Given the description of an element on the screen output the (x, y) to click on. 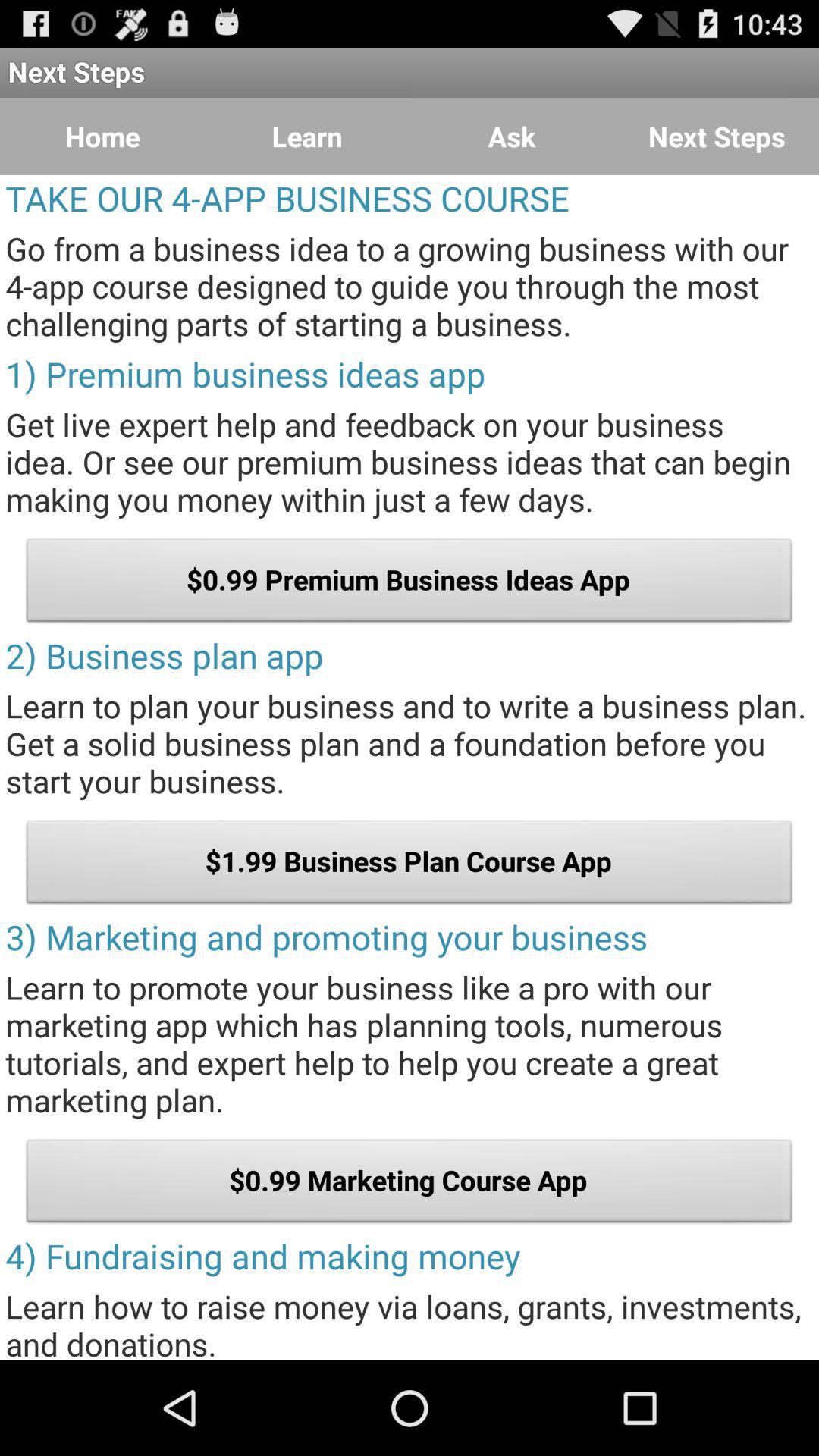
select the ask icon (511, 136)
